Given the description of an element on the screen output the (x, y) to click on. 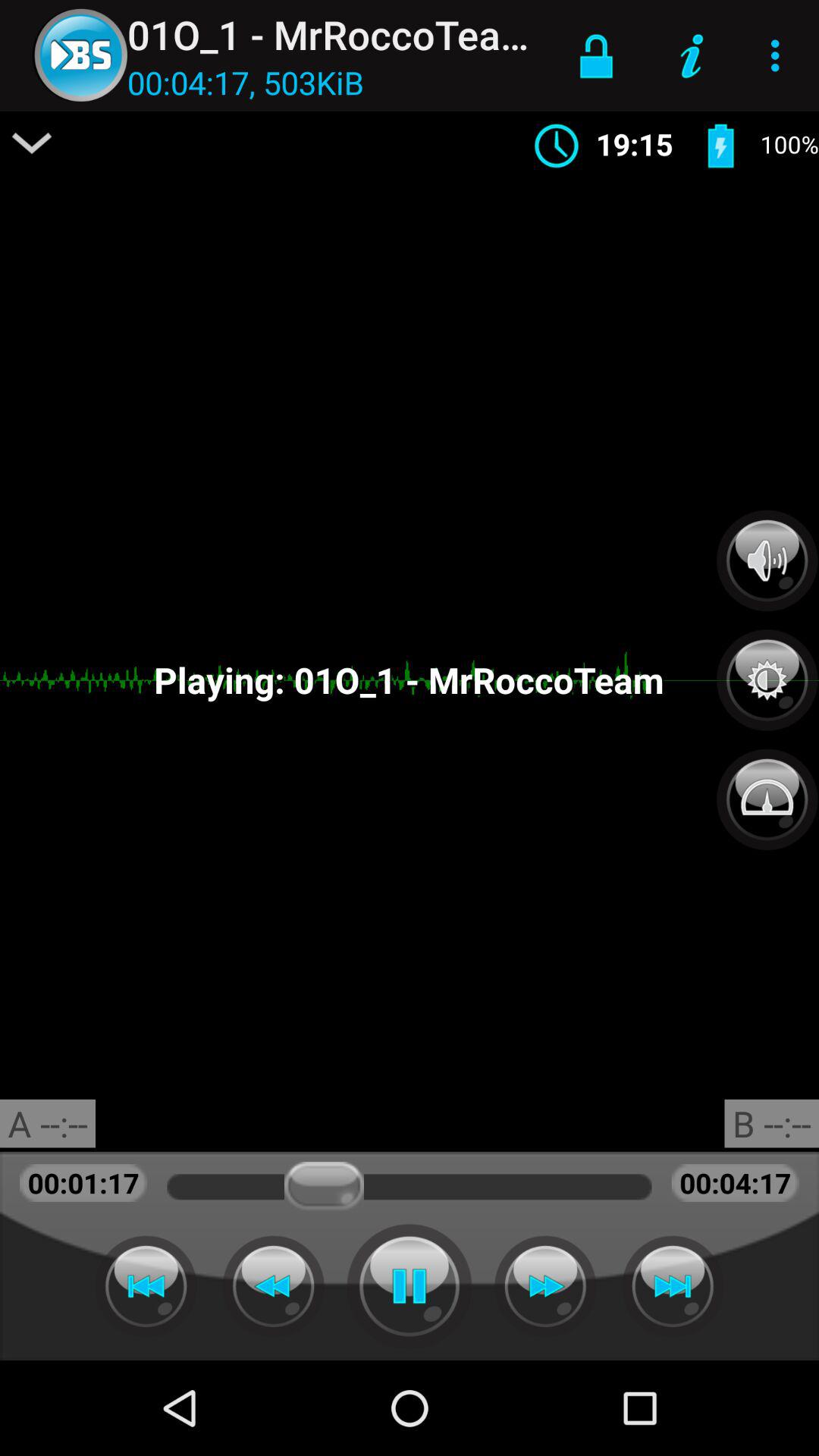
go to pre (145, 1286)
